Given the description of an element on the screen output the (x, y) to click on. 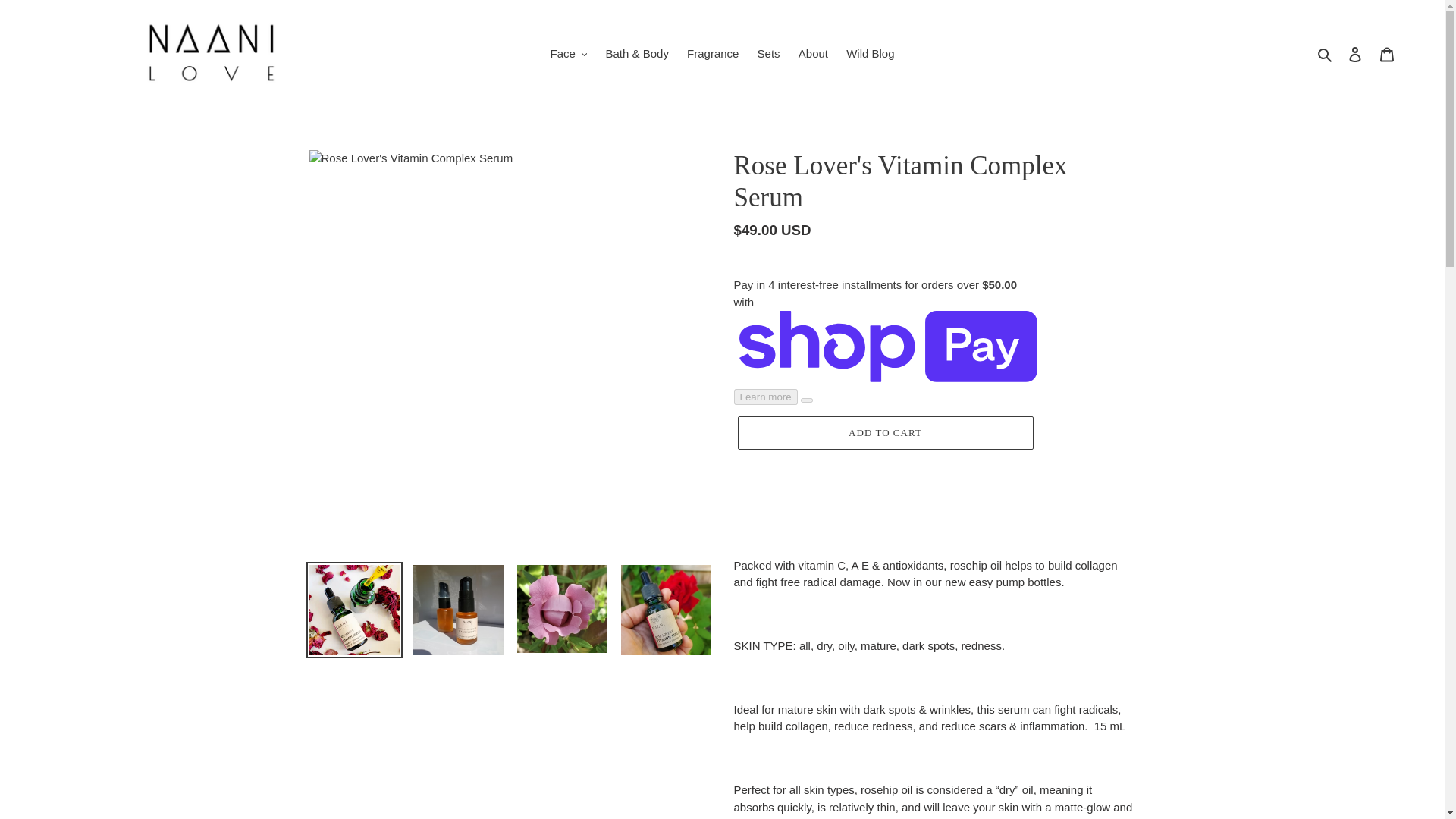
Face (567, 54)
ADD TO CART (884, 432)
Fragrance (712, 54)
Search (1326, 54)
Log in (1355, 53)
About (812, 54)
Wild Blog (869, 54)
Sets (768, 54)
Cart (1387, 53)
